Given the description of an element on the screen output the (x, y) to click on. 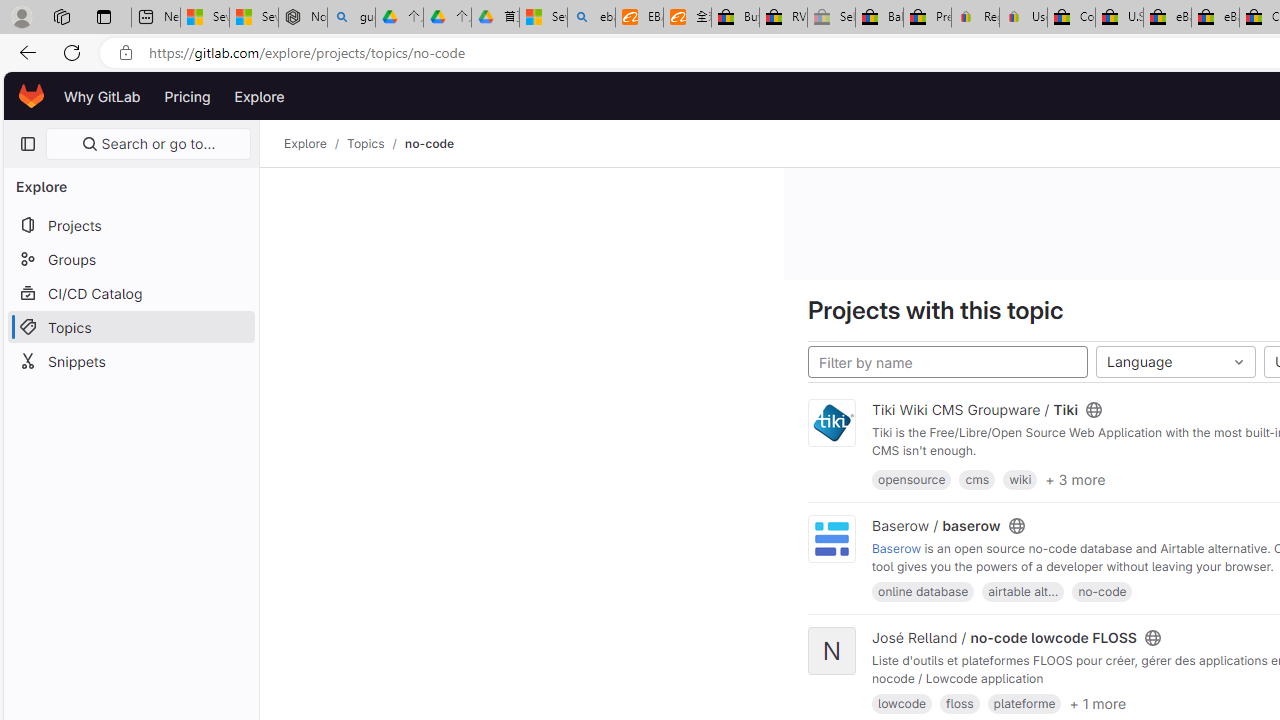
plateforme (1024, 703)
Buy Auto Parts & Accessories | eBay (735, 17)
guge yunpan - Search (351, 17)
RV, Trailer & Camper Steps & Ladders for sale | eBay (783, 17)
cms (976, 479)
online database (923, 591)
Explore (305, 143)
ebay - Search (591, 17)
Register: Create a personal eBay account (975, 17)
airtable alt... (1022, 591)
